Given the description of an element on the screen output the (x, y) to click on. 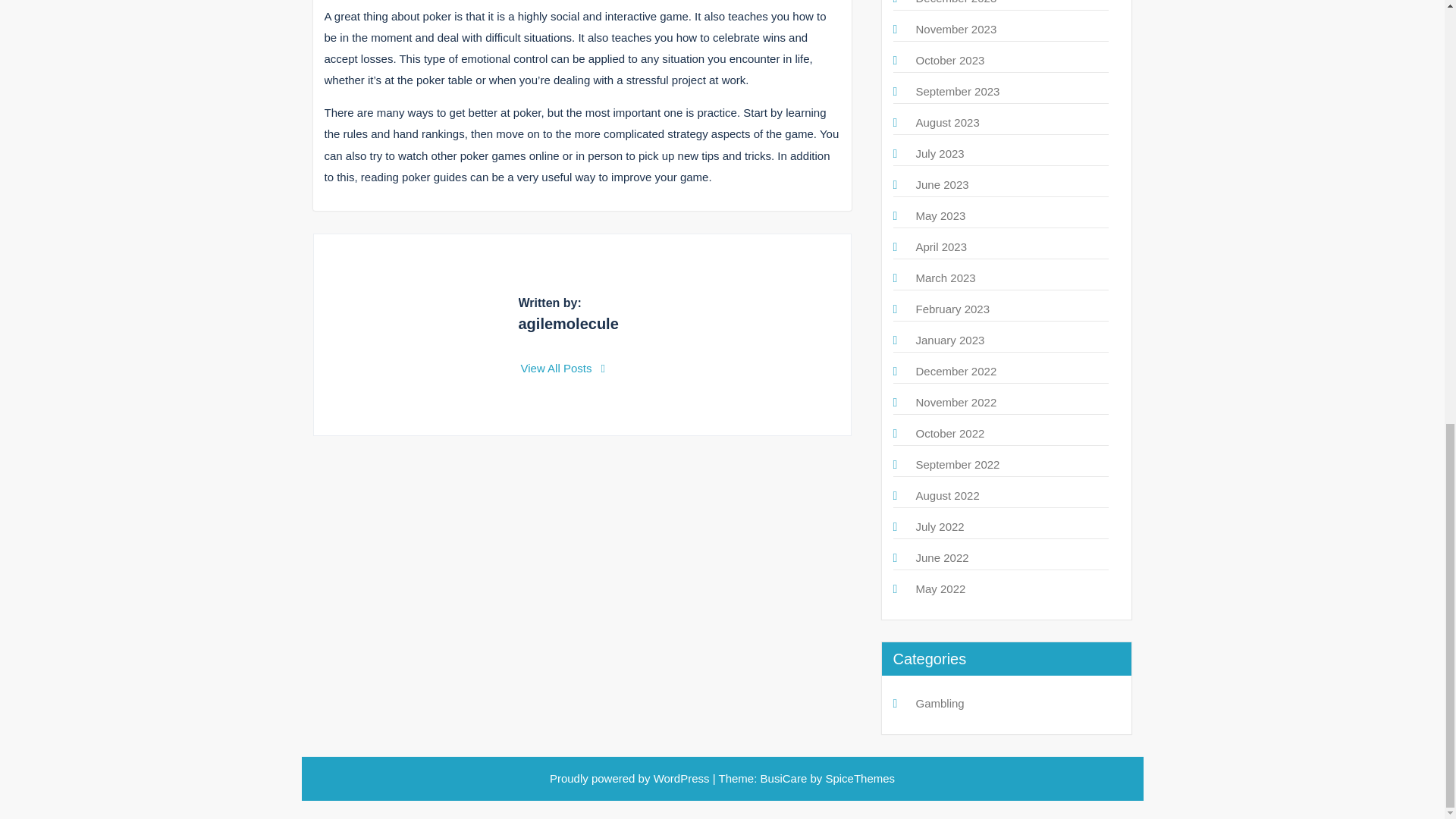
September 2023 (957, 91)
WordPress (681, 778)
September 2022 (957, 463)
May 2022 (940, 588)
October 2022 (950, 432)
January 2023 (950, 339)
July 2023 (939, 153)
December 2023 (956, 2)
Gambling (939, 703)
November 2023 (956, 29)
